Given the description of an element on the screen output the (x, y) to click on. 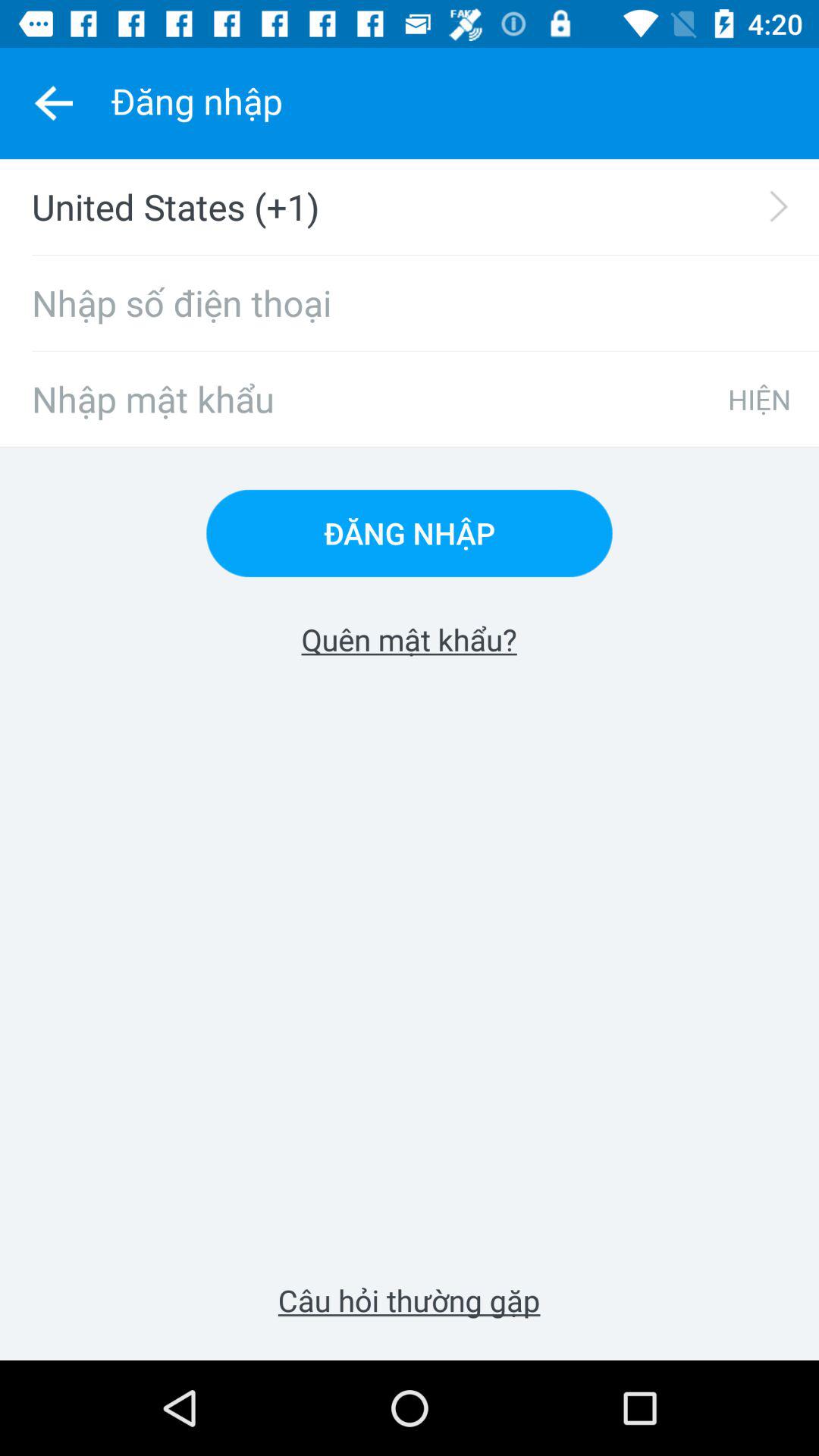
swipe until united states (+1) (419, 206)
